Given the description of an element on the screen output the (x, y) to click on. 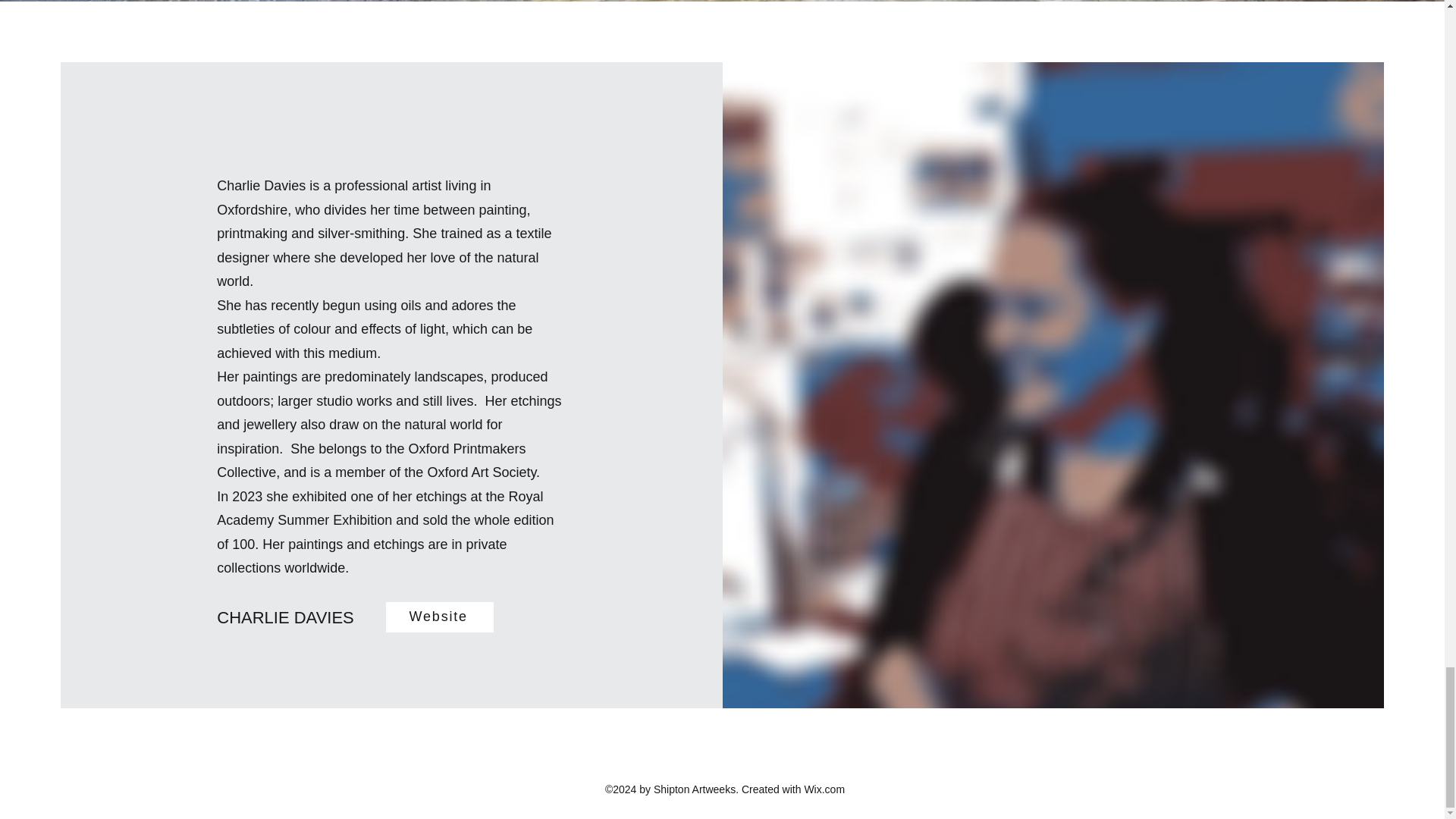
Website (439, 616)
